Given the description of an element on the screen output the (x, y) to click on. 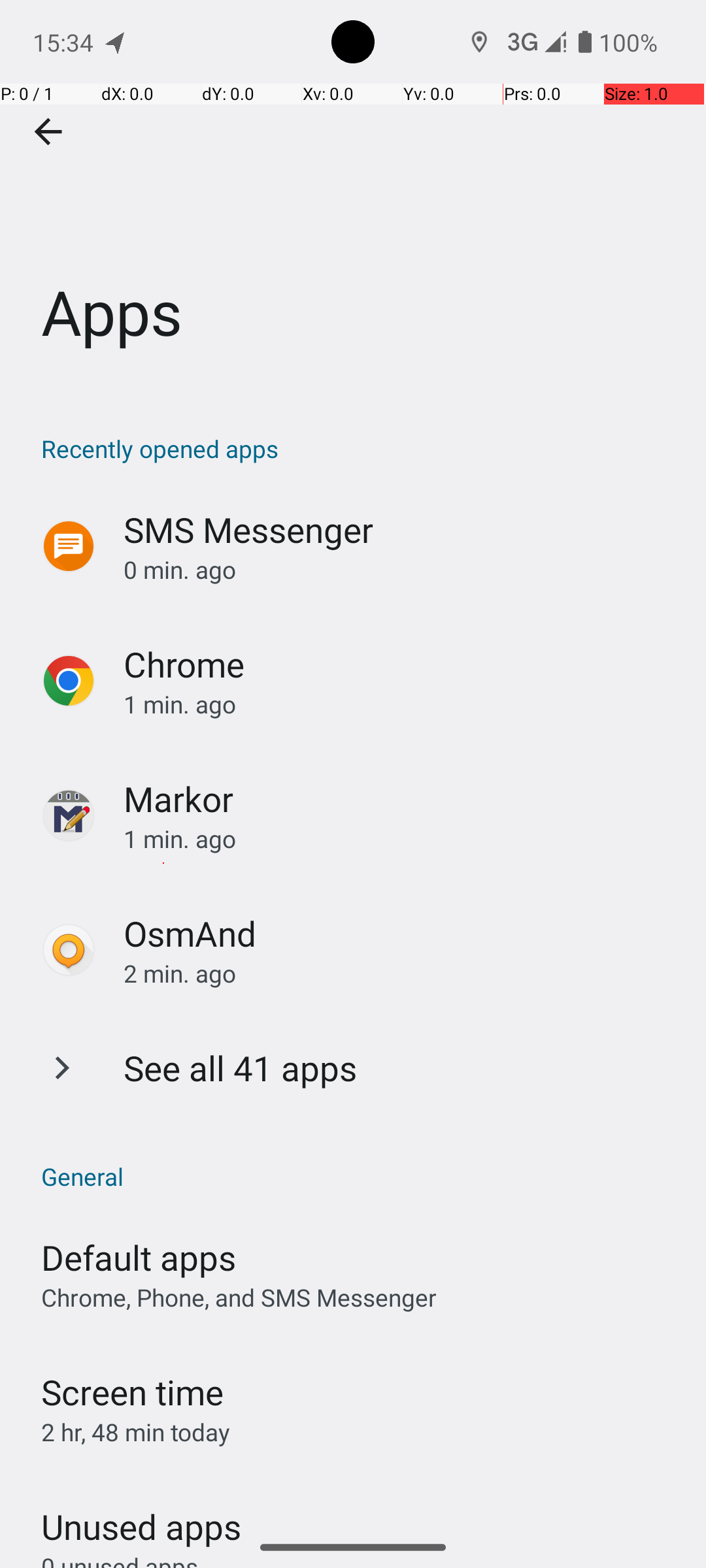
Recently opened apps Element type: android.widget.TextView (359, 448)
0 min. ago Element type: android.widget.TextView (400, 569)
1 min. ago Element type: android.widget.TextView (400, 703)
2 min. ago Element type: android.widget.TextView (400, 972)
See all 41 apps Element type: android.widget.TextView (239, 1067)
Default apps Element type: android.widget.TextView (138, 1257)
Chrome, Phone, and SMS Messenger Element type: android.widget.TextView (238, 1296)
2 hr, 48 min today Element type: android.widget.TextView (135, 1431)
Unused apps Element type: android.widget.TextView (141, 1514)
